Given the description of an element on the screen output the (x, y) to click on. 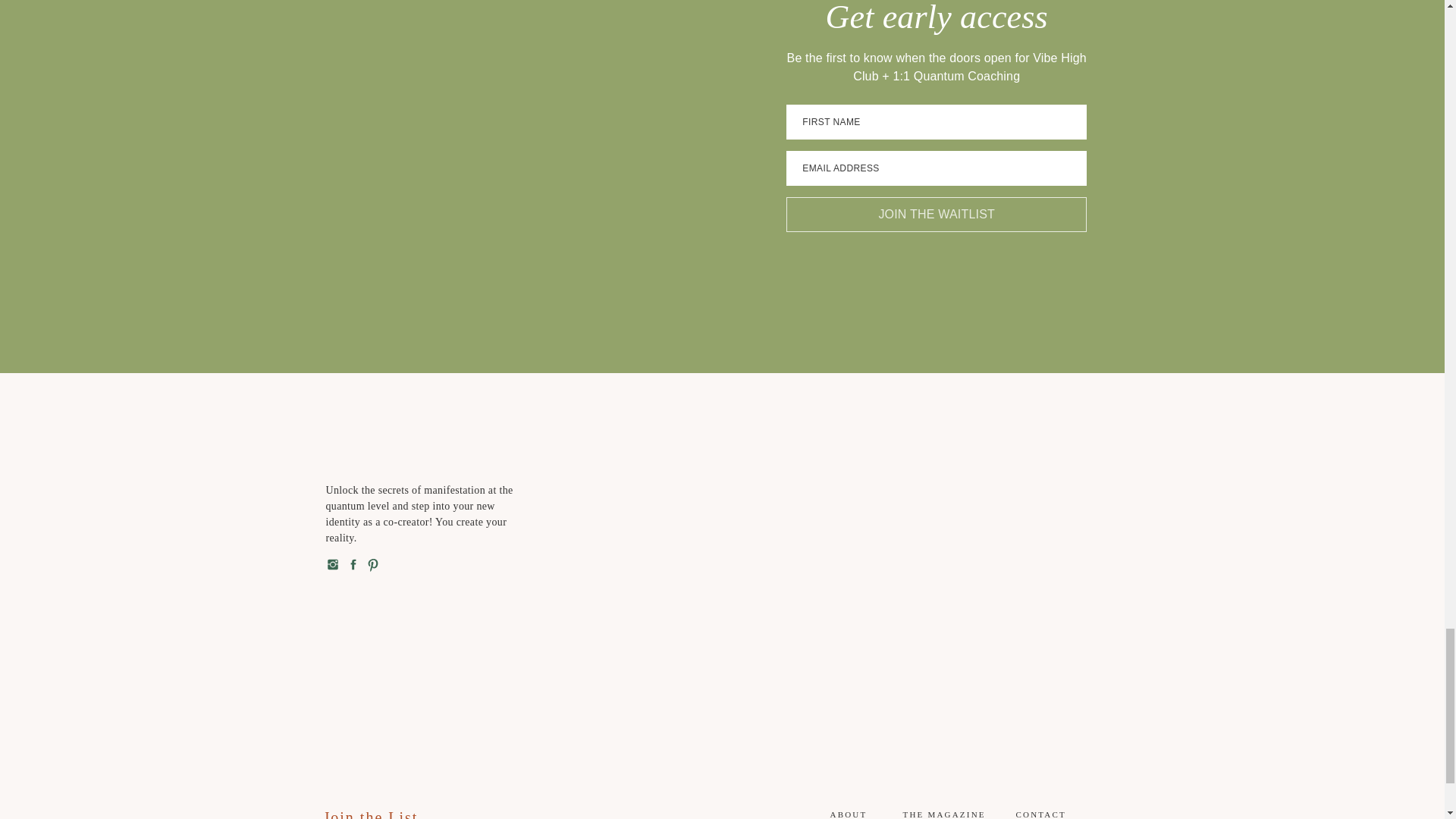
THE MAGAZINE (946, 813)
JOIN THE WAITLIST (936, 214)
CONTACT (1040, 813)
Join the List. (381, 814)
